Given the description of an element on the screen output the (x, y) to click on. 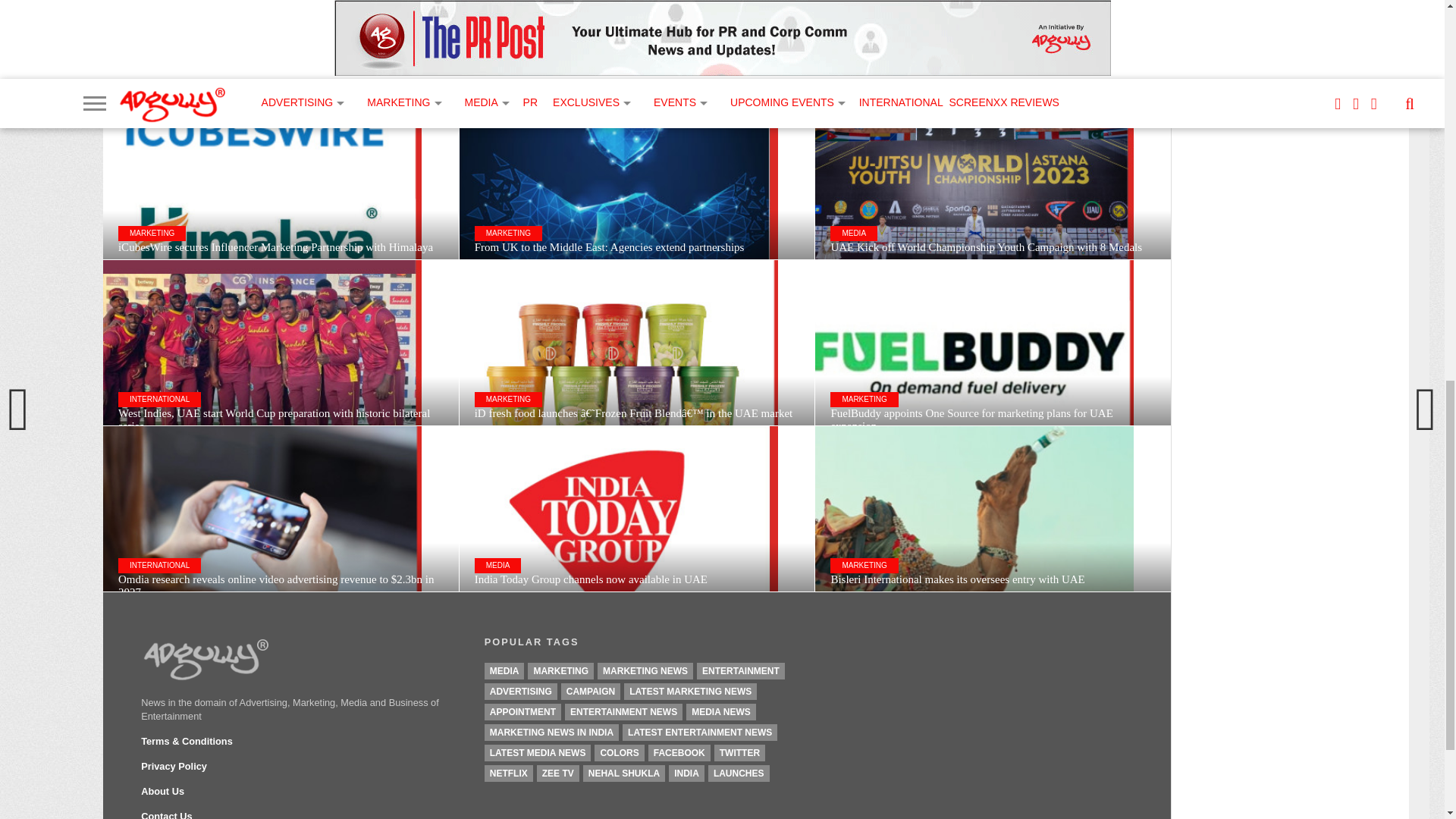
Entertainment (740, 670)
Media (504, 670)
Latest Marketing News (690, 691)
Appointment (522, 711)
Marketing (560, 670)
Advertising (520, 691)
Campaign (590, 691)
Marketing News (644, 670)
